Given the description of an element on the screen output the (x, y) to click on. 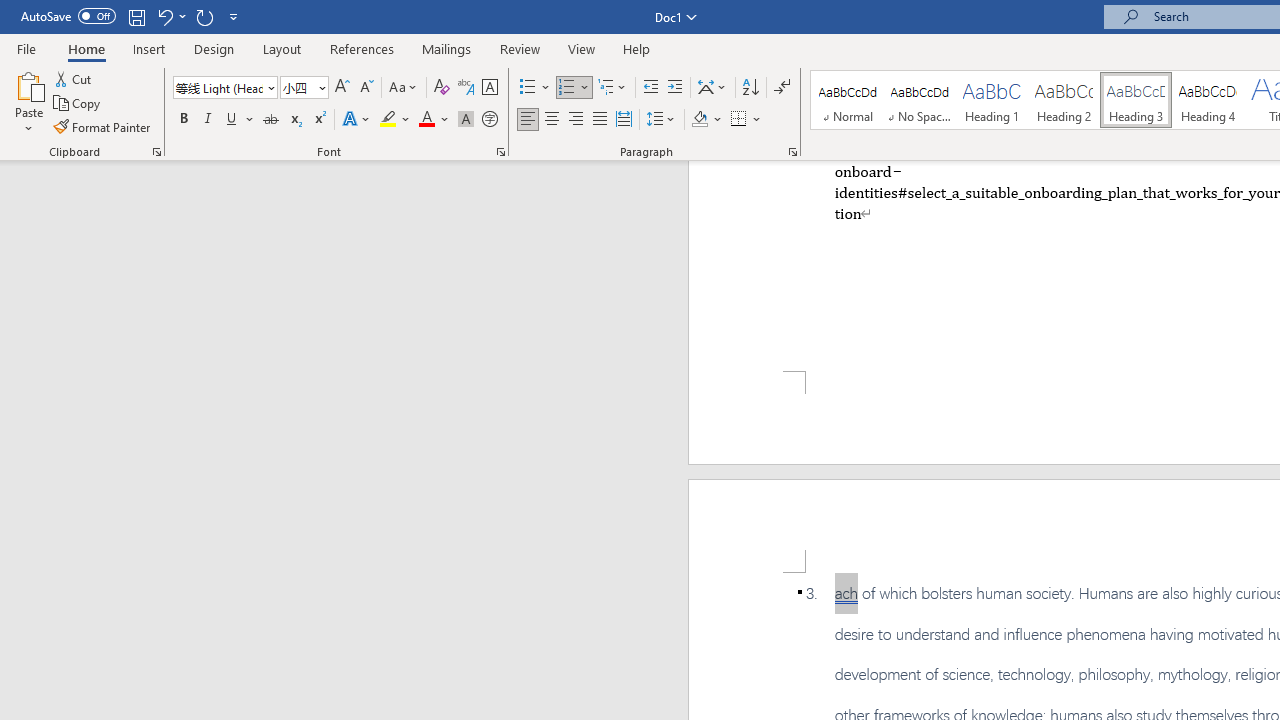
Show/Hide Editing Marks (781, 87)
Change Case (404, 87)
Paragraph... (792, 151)
Increase Indent (675, 87)
Subscript (294, 119)
References (362, 48)
Heading 4 (1208, 100)
AutoSave (68, 16)
Open (320, 87)
Line and Paragraph Spacing (661, 119)
